Given the description of an element on the screen output the (x, y) to click on. 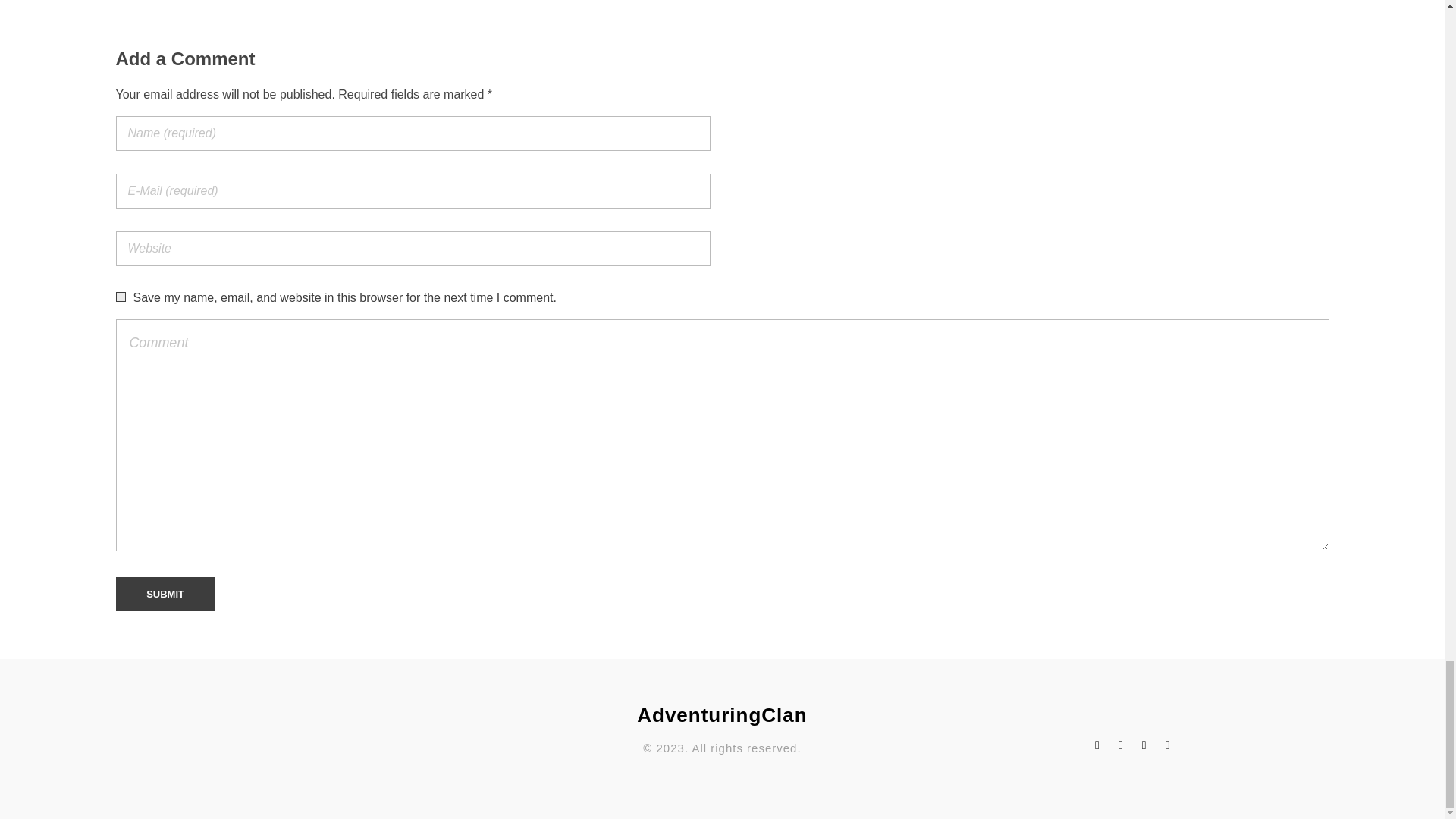
Submit (164, 594)
yes (120, 296)
Submit (164, 594)
